Given the description of an element on the screen output the (x, y) to click on. 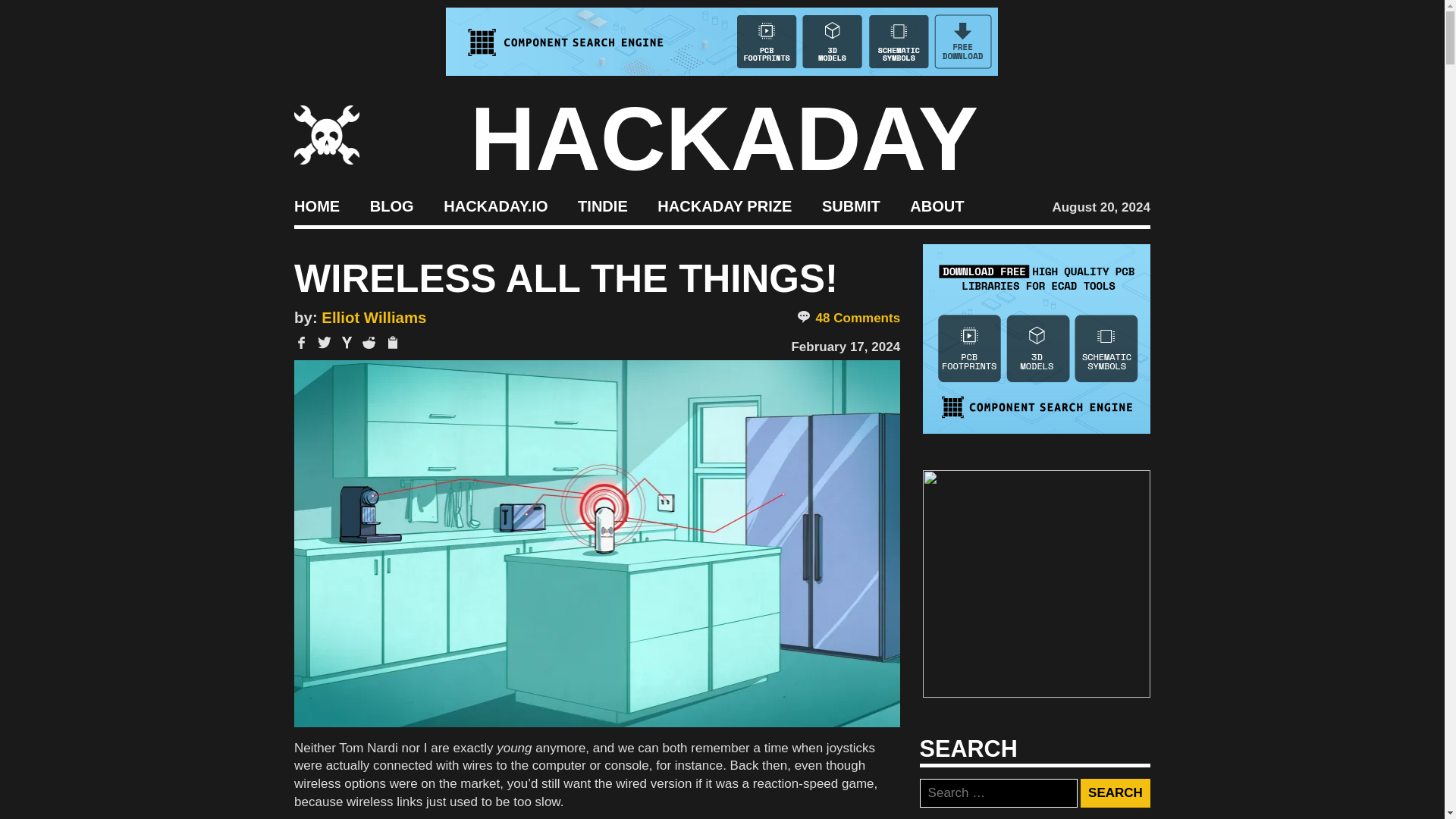
Share on Twitter (324, 342)
Share on Hacker News (347, 342)
February 17, 2024 (844, 346)
Elliot Williams (373, 317)
HOME (316, 205)
ABOUT (936, 205)
Search (1115, 792)
Copy title or shortlink (391, 343)
Posts by Elliot Williams (373, 317)
Search (1115, 792)
